Given the description of an element on the screen output the (x, y) to click on. 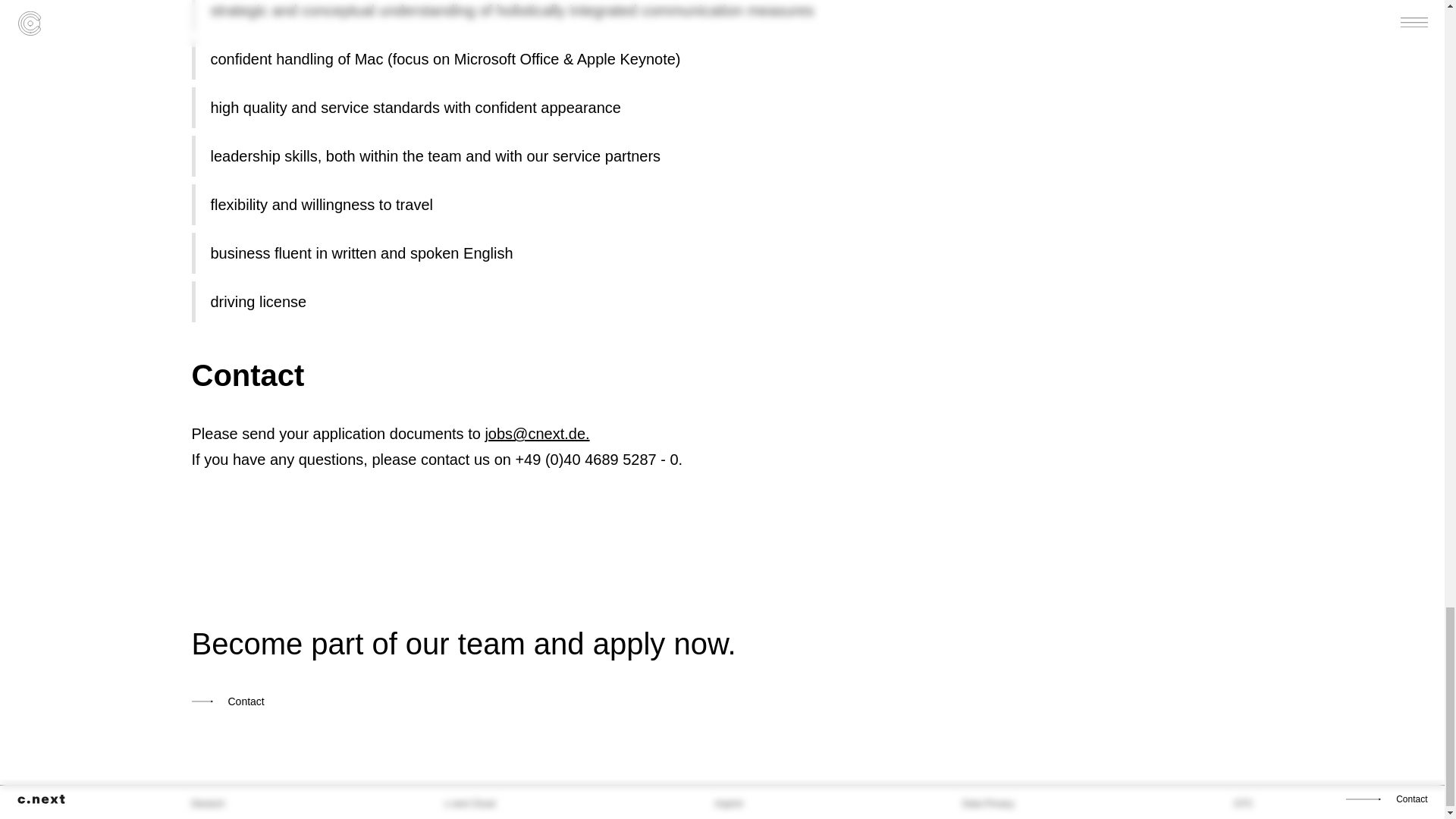
Contact (462, 701)
GTC (1242, 804)
Data Privacy (987, 804)
Deutsch (207, 803)
c.next Cloud (469, 804)
Imprint (728, 804)
